Given the description of an element on the screen output the (x, y) to click on. 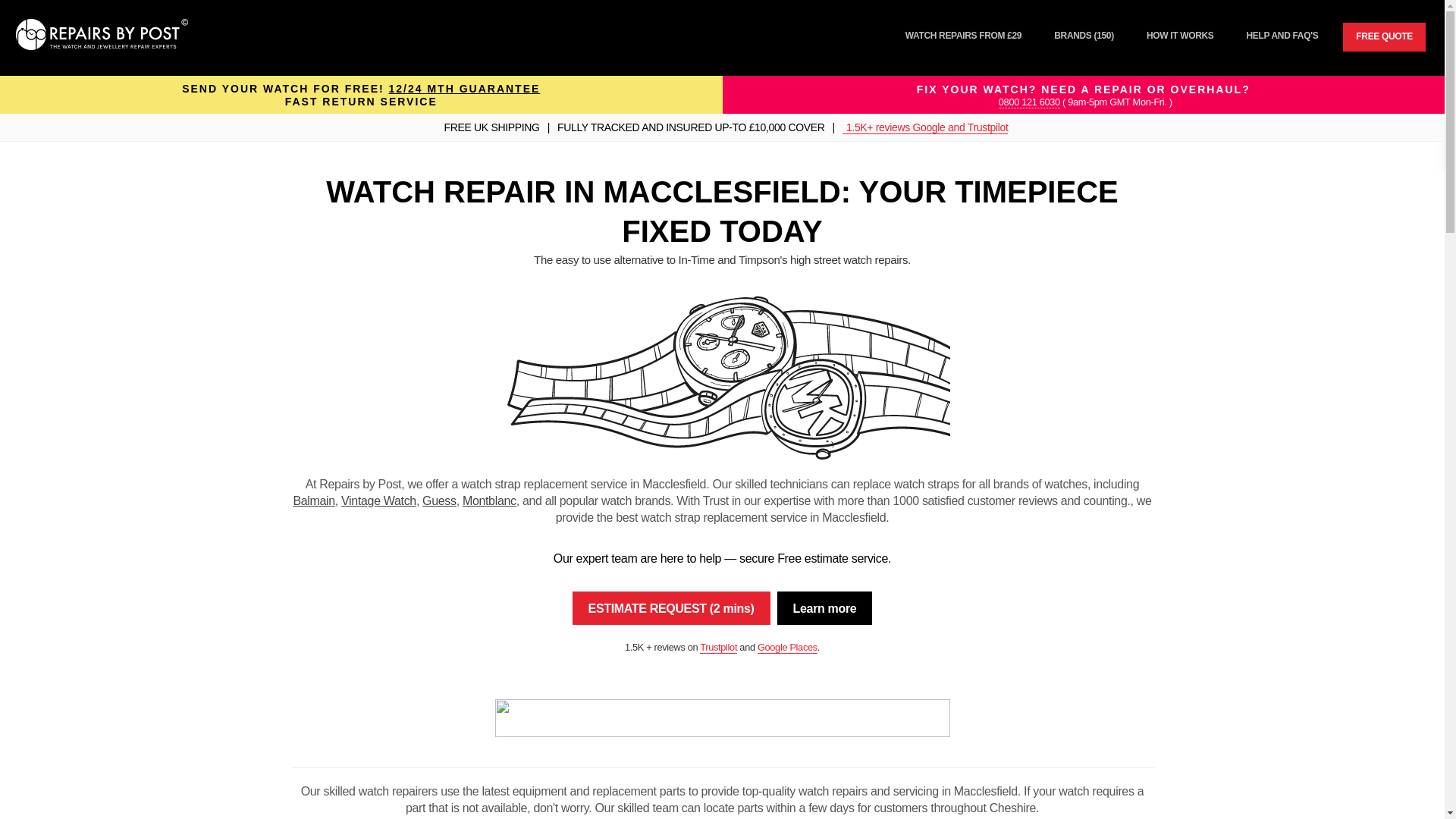
0800 121 6030 (1028, 101)
Learn more (824, 607)
HELP AND FAQ'S (1282, 35)
Google Places (786, 647)
FREE QUOTE (1383, 36)
HOW IT WORKS (1179, 35)
Montblanc (489, 500)
Trustpilot (718, 647)
Guess (439, 500)
Balmain (313, 500)
Vintage Watch (378, 500)
